Given the description of an element on the screen output the (x, y) to click on. 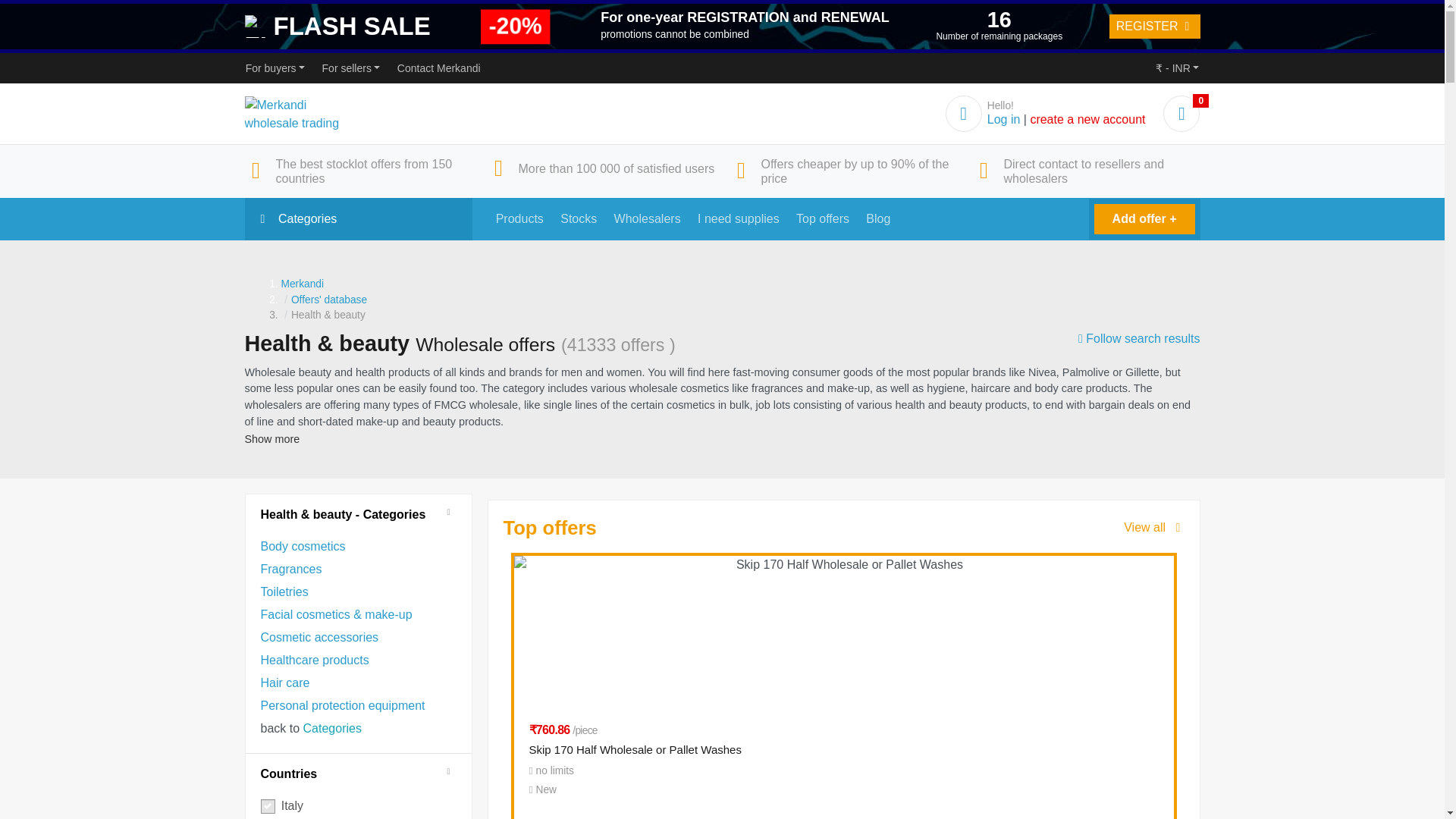
For buyers (274, 68)
Log in (1003, 119)
Categories (357, 219)
0 (1181, 115)
REGISTER (1154, 26)
create a new account (1086, 119)
Contact Merkandi (438, 68)
Shopping cart (1181, 115)
For sellers (350, 68)
